Given the description of an element on the screen output the (x, y) to click on. 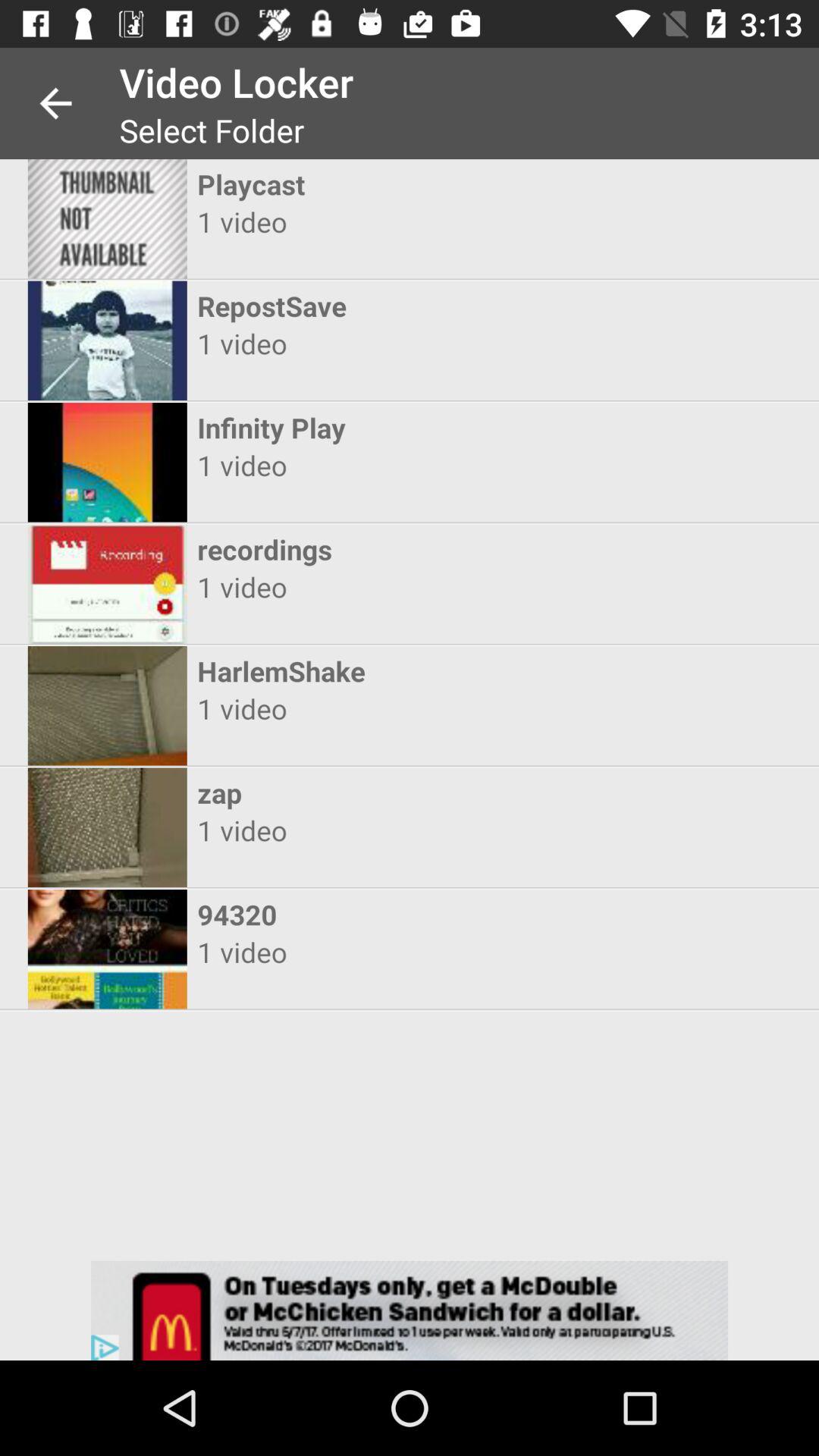
choose item above the 1 video (396, 305)
